Given the description of an element on the screen output the (x, y) to click on. 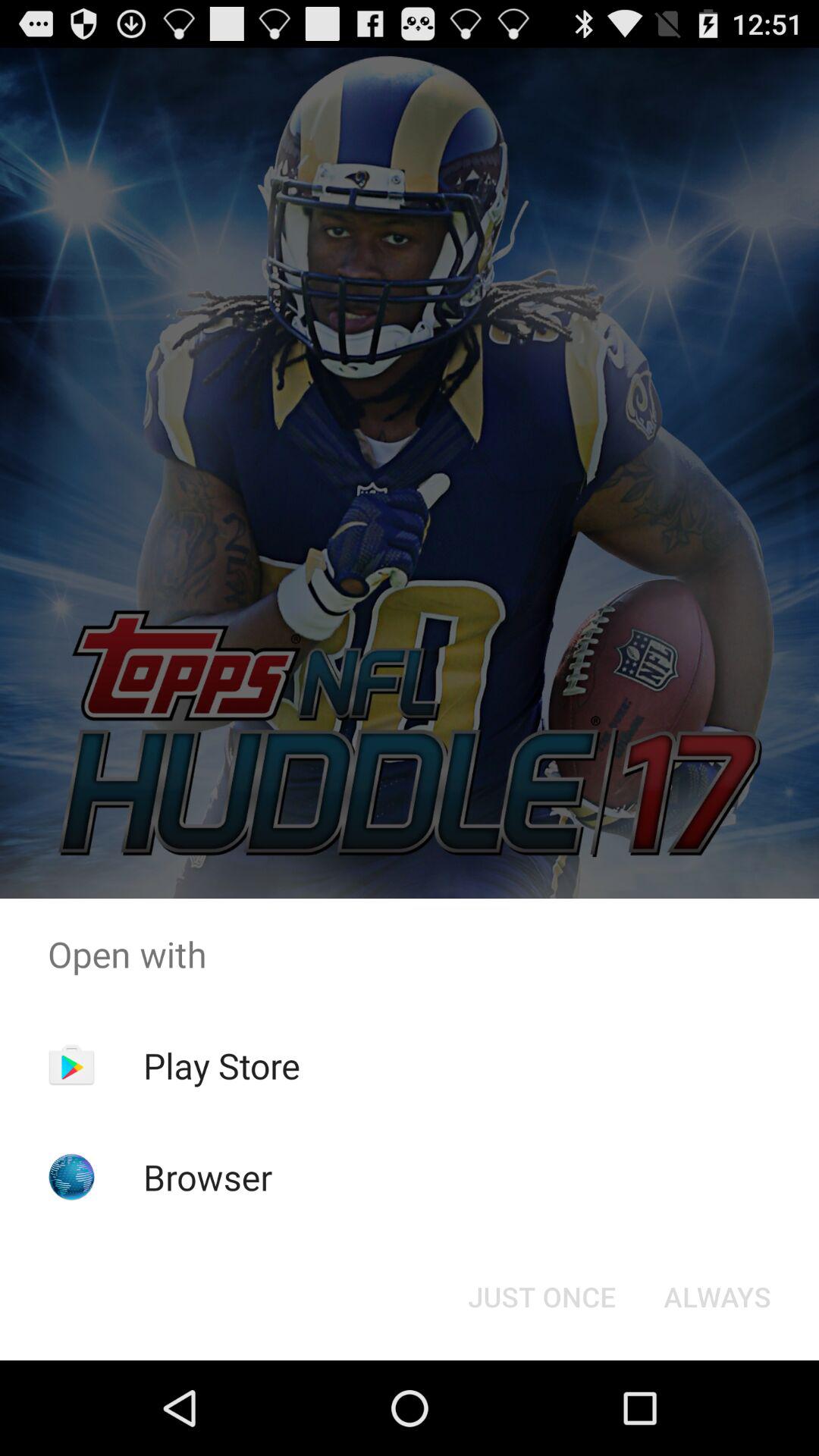
scroll until the play store app (221, 1065)
